Given the description of an element on the screen output the (x, y) to click on. 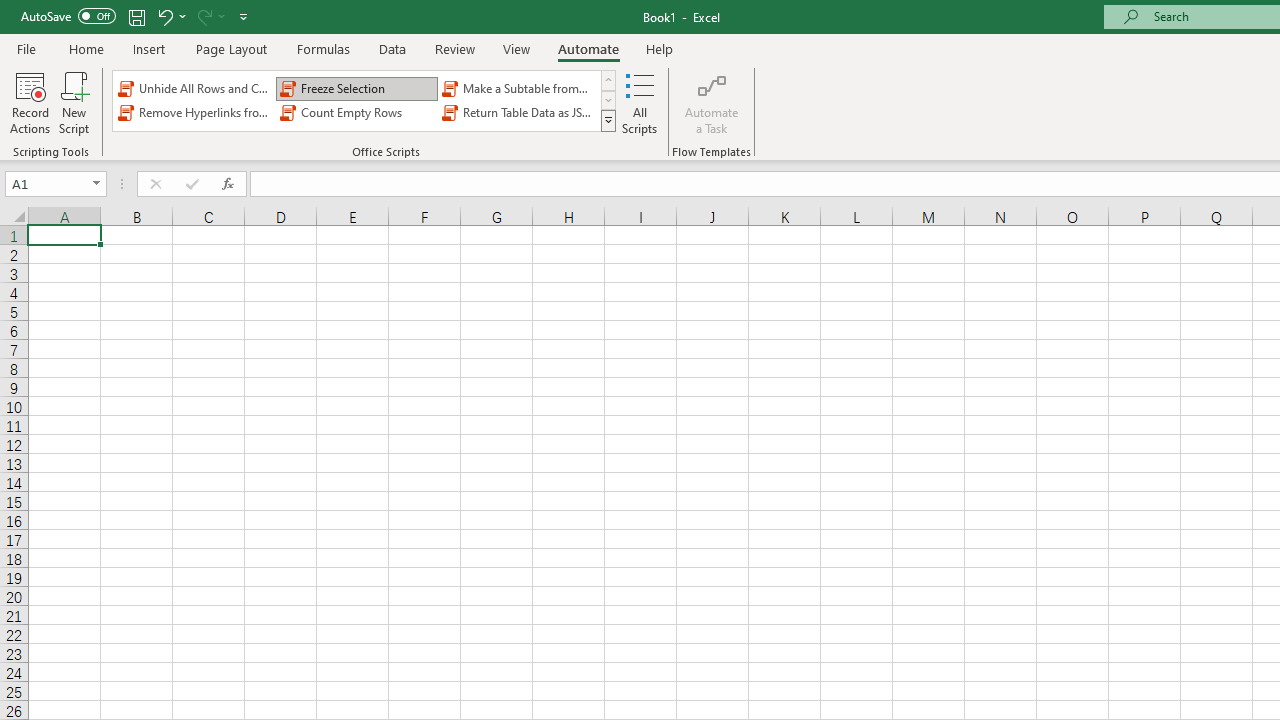
Automate a Task (712, 102)
Office Scripts (608, 120)
Row up (608, 79)
Row Down (608, 100)
Freeze Selection (356, 88)
Unhide All Rows and Columns (194, 88)
Return Table Data as JSON (518, 112)
